Given the description of an element on the screen output the (x, y) to click on. 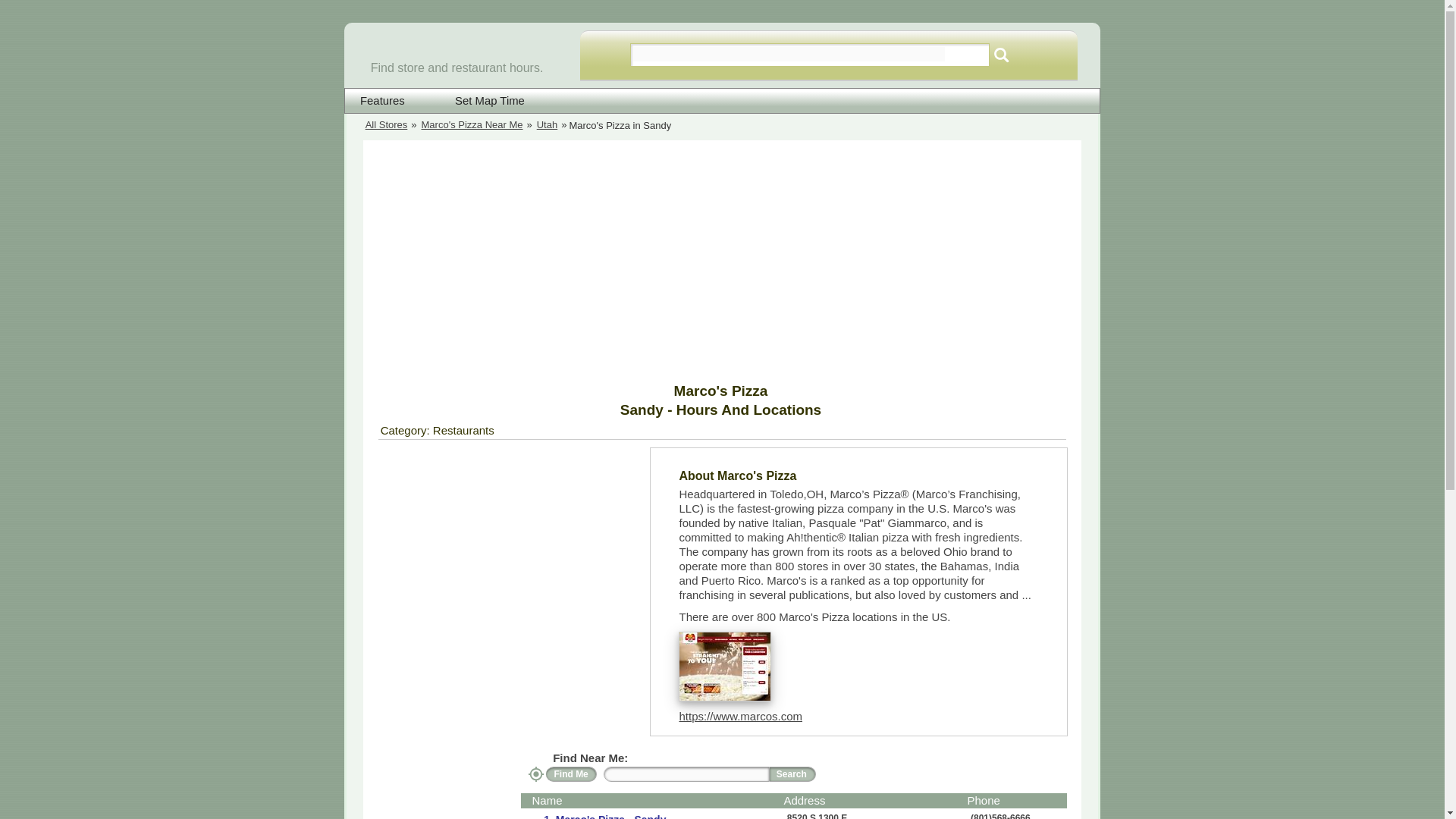
Search (1000, 54)
Utah (547, 125)
  Set Map Time (480, 100)
Advertisement (505, 553)
 Search (792, 774)
Features (382, 100)
Marco's Pizza Near Me (472, 125)
Find Me (571, 774)
Marco's Pizza - Sandy (608, 816)
Search (1000, 54)
